Given the description of an element on the screen output the (x, y) to click on. 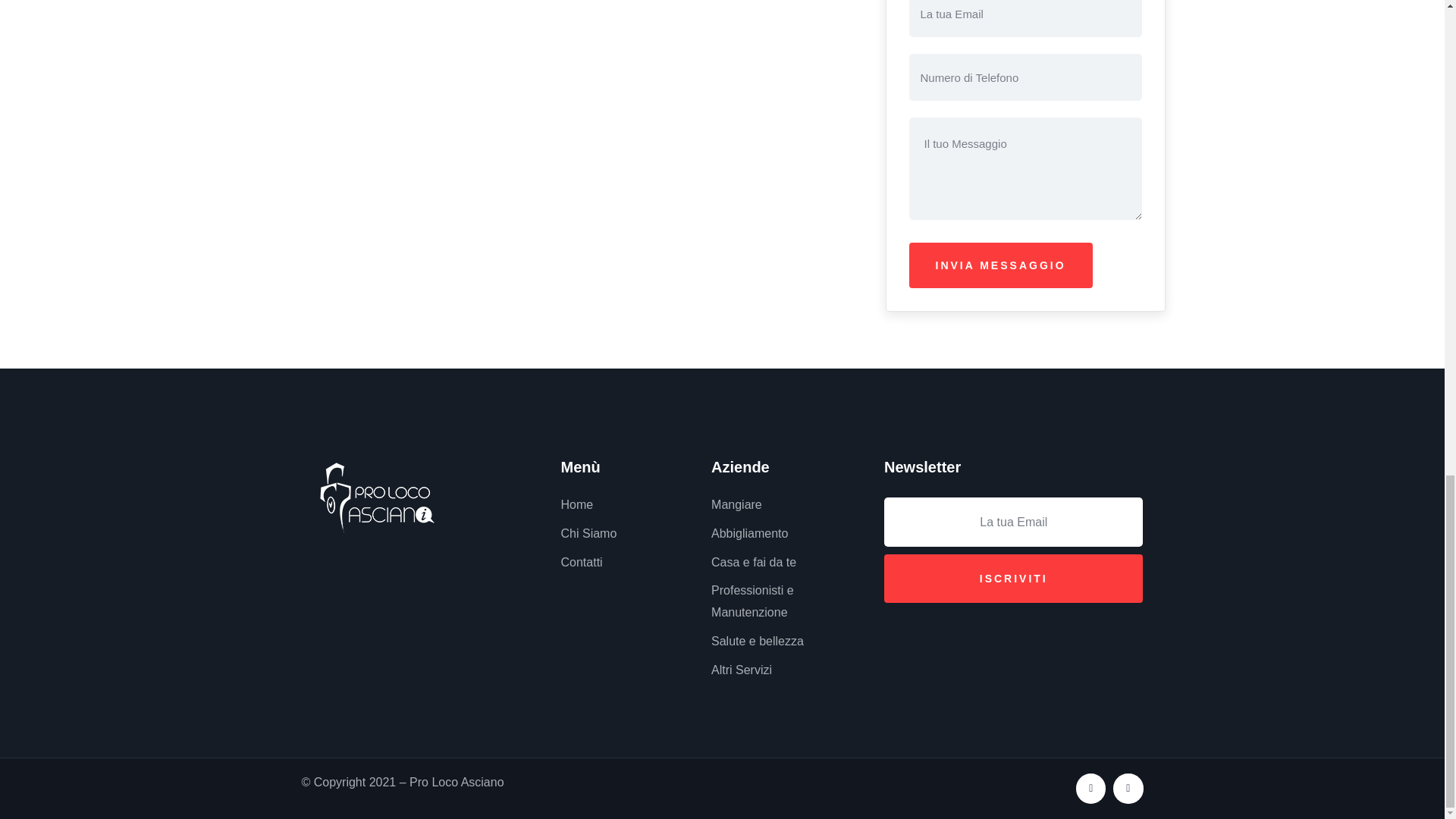
Iscriviti (1012, 578)
Invia Messaggio (1000, 265)
Home (376, 497)
